Given the description of an element on the screen output the (x, y) to click on. 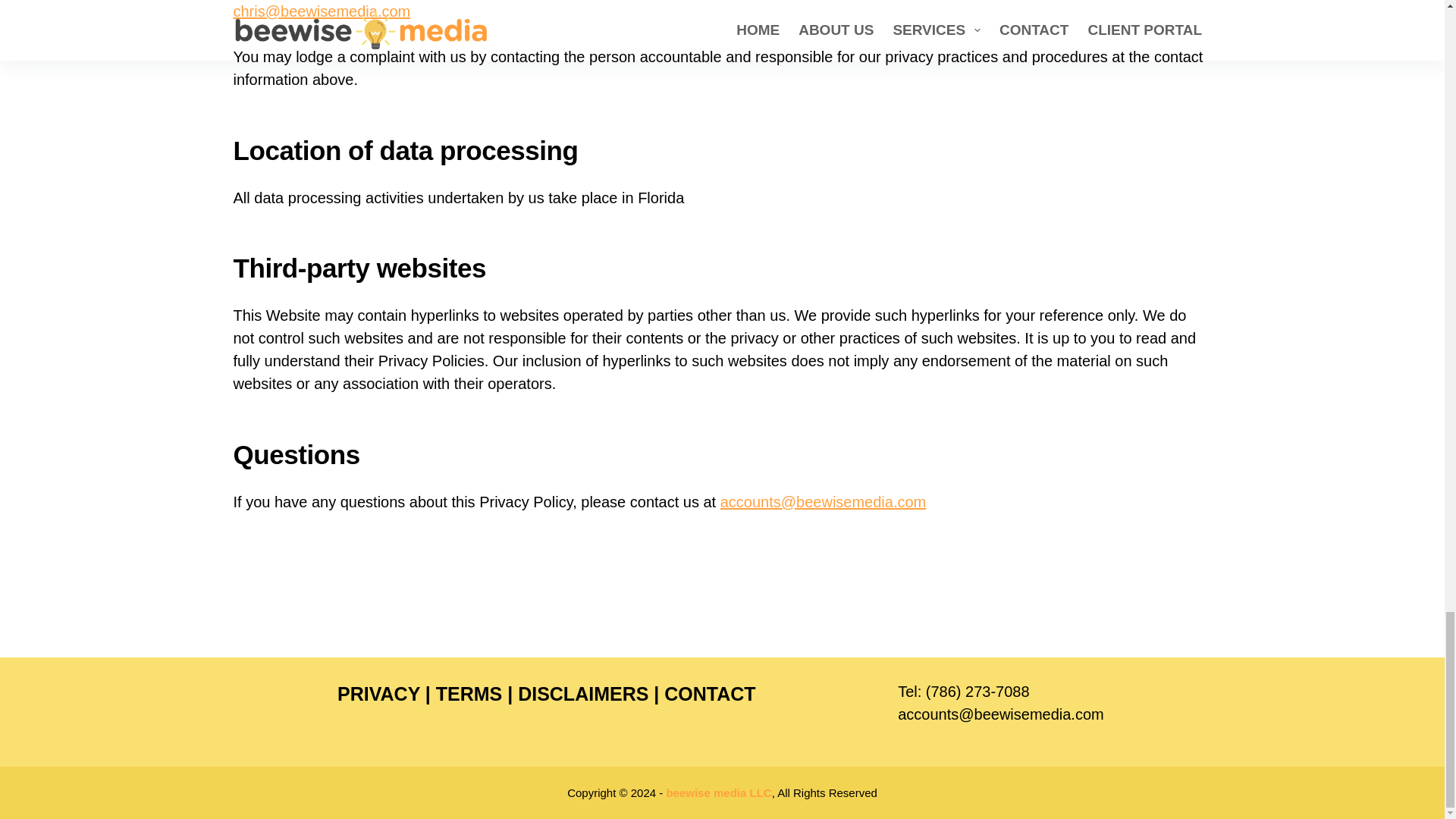
beewise media LLC (718, 792)
DISCLAIMERS (582, 693)
TERMS (468, 693)
PRIVACY (378, 693)
CONTACT (709, 693)
